Given the description of an element on the screen output the (x, y) to click on. 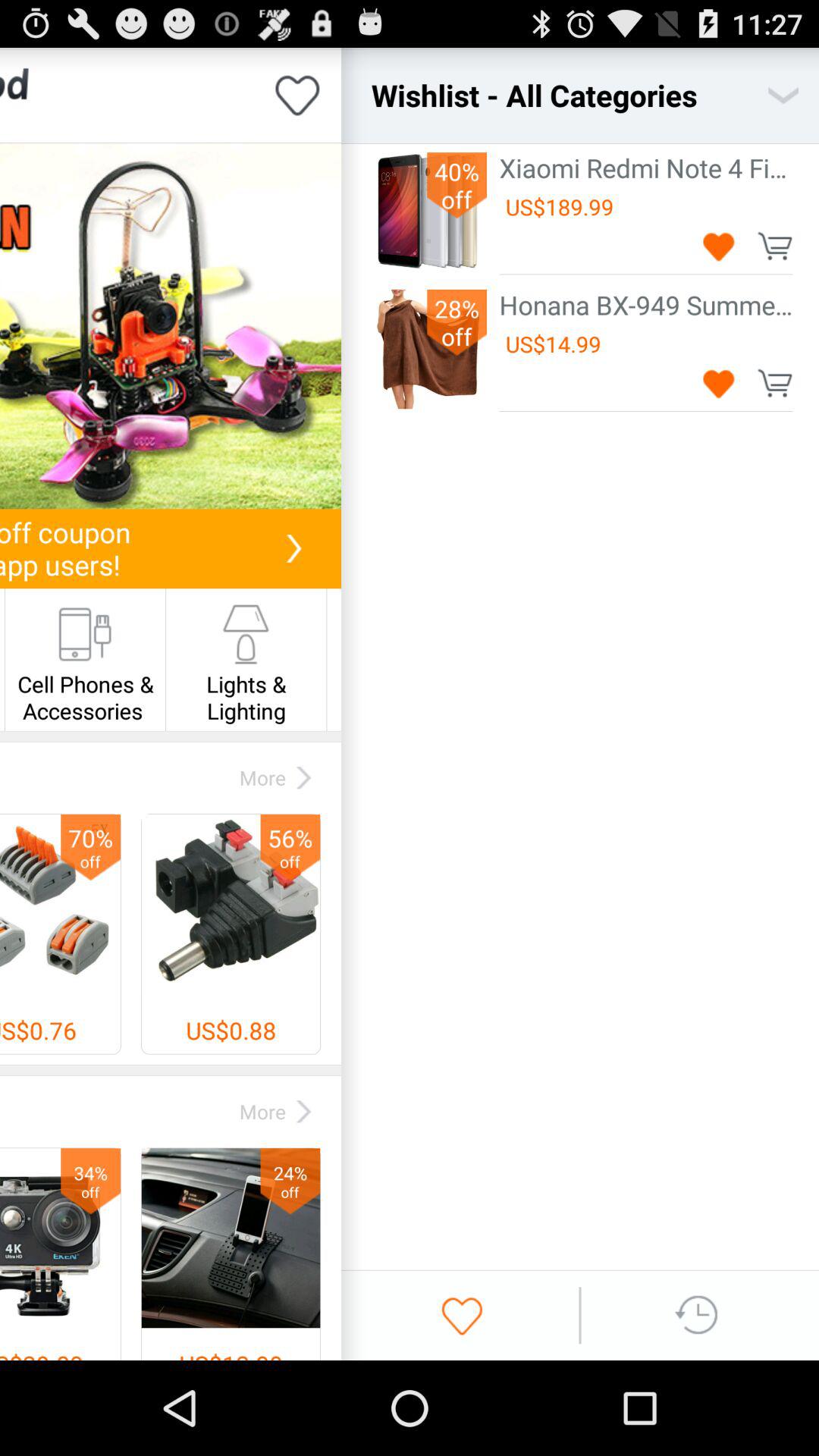
jump until the honana bx 949 (645, 304)
